Given the description of an element on the screen output the (x, y) to click on. 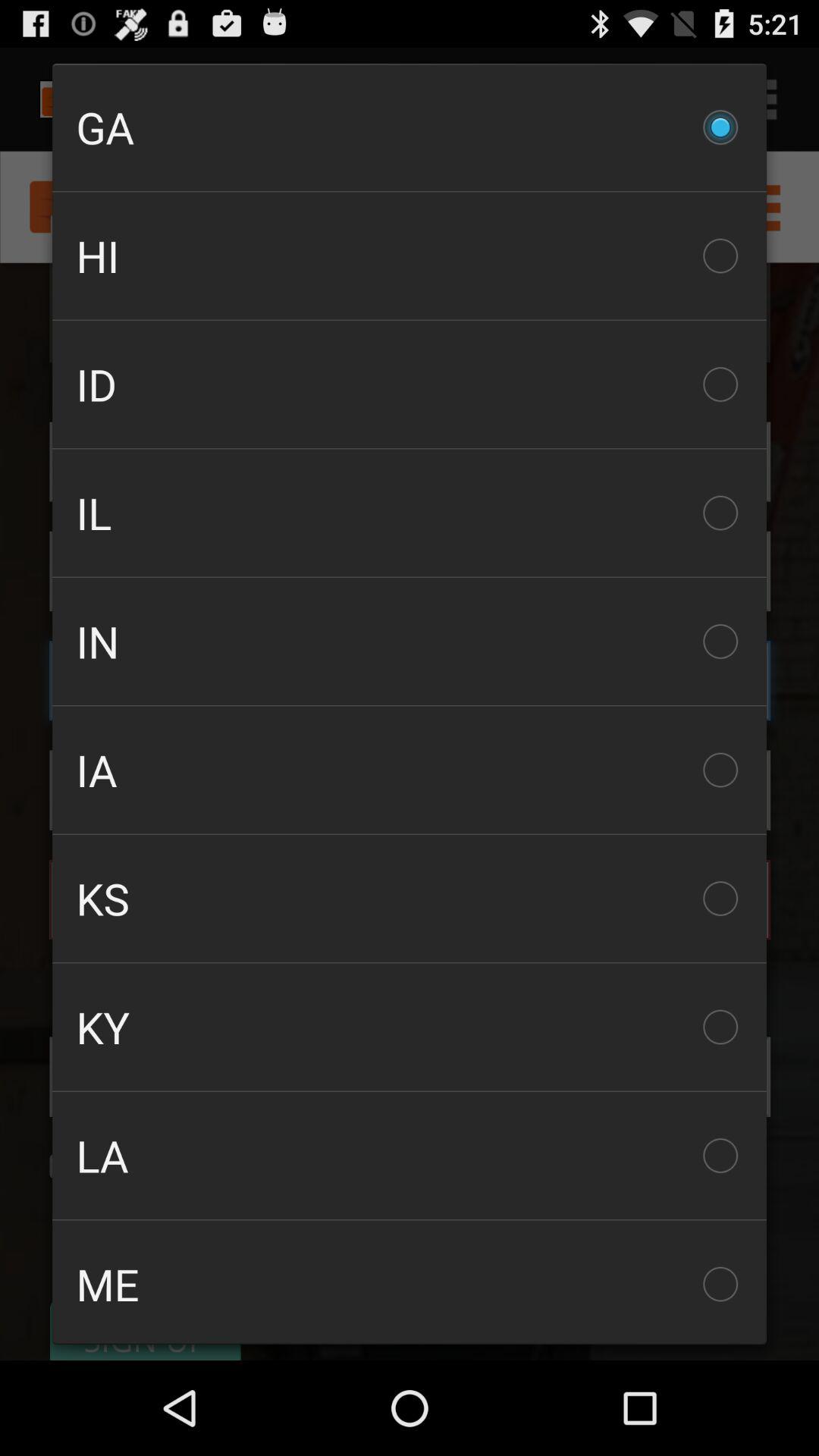
jump until il item (409, 512)
